Given the description of an element on the screen output the (x, y) to click on. 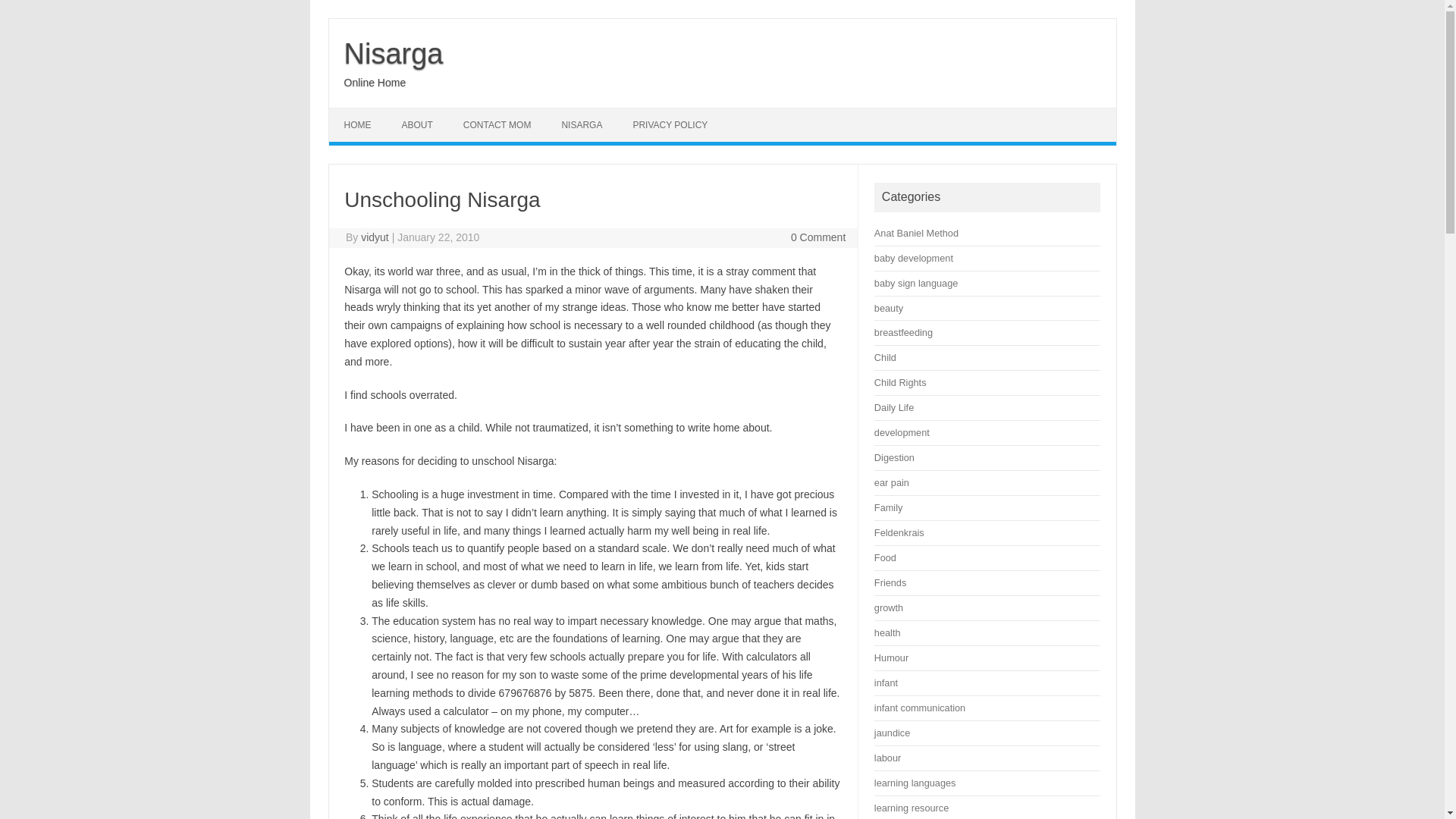
HOME (358, 124)
development (902, 432)
Feldenkrais (899, 532)
Food (885, 557)
vidyut (374, 236)
Family (888, 507)
Daily Life (894, 407)
PRIVACY POLICY (669, 124)
health (888, 632)
ear pain (891, 482)
